Given the description of an element on the screen output the (x, y) to click on. 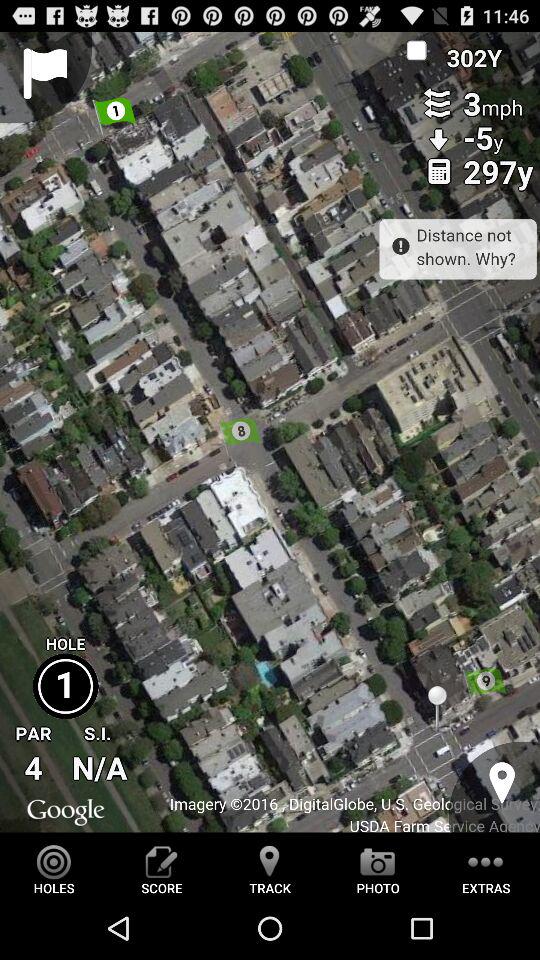
satellite map (270, 431)
